Given the description of an element on the screen output the (x, y) to click on. 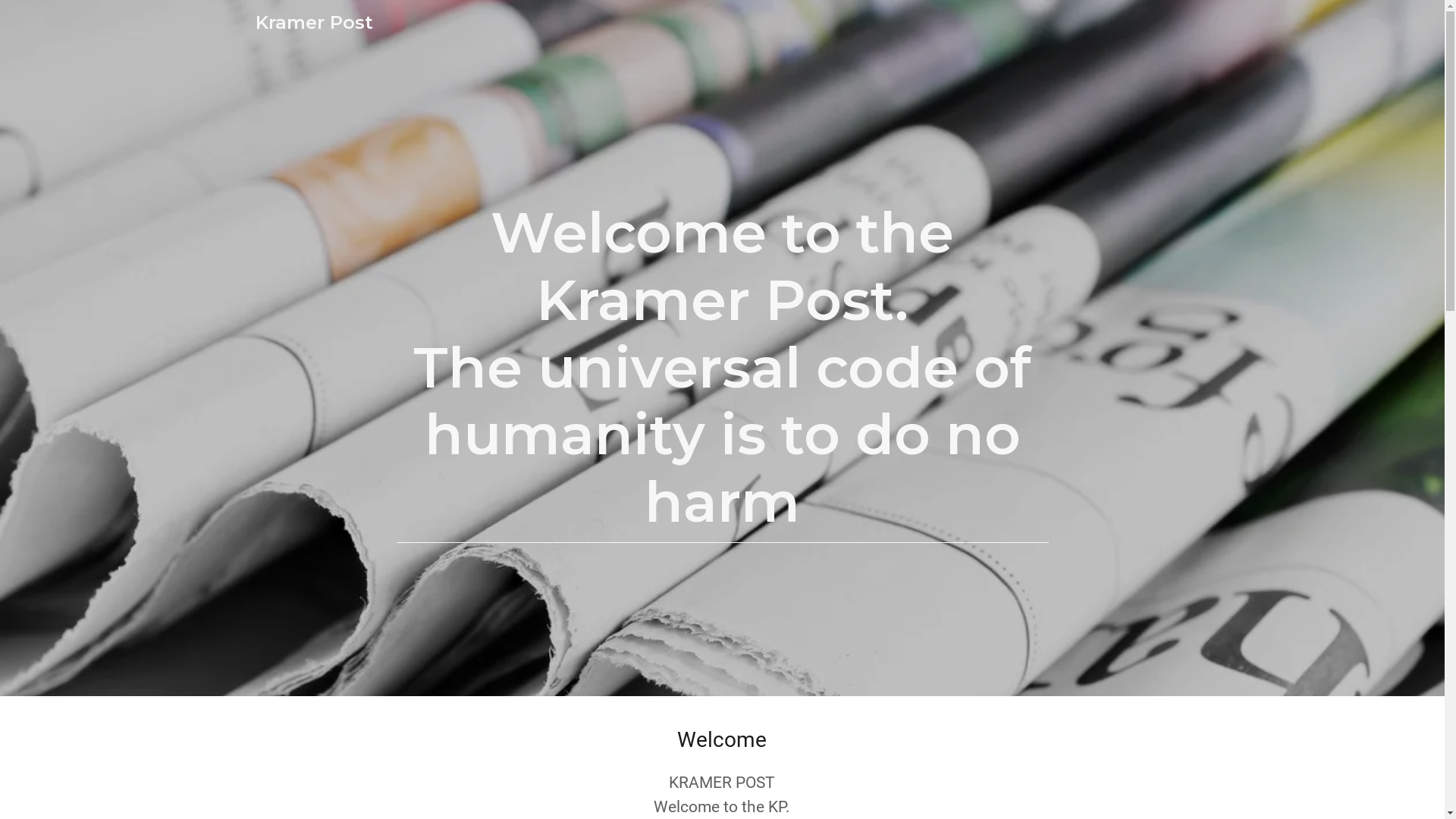
Kramer Post Element type: text (313, 23)
